Given the description of an element on the screen output the (x, y) to click on. 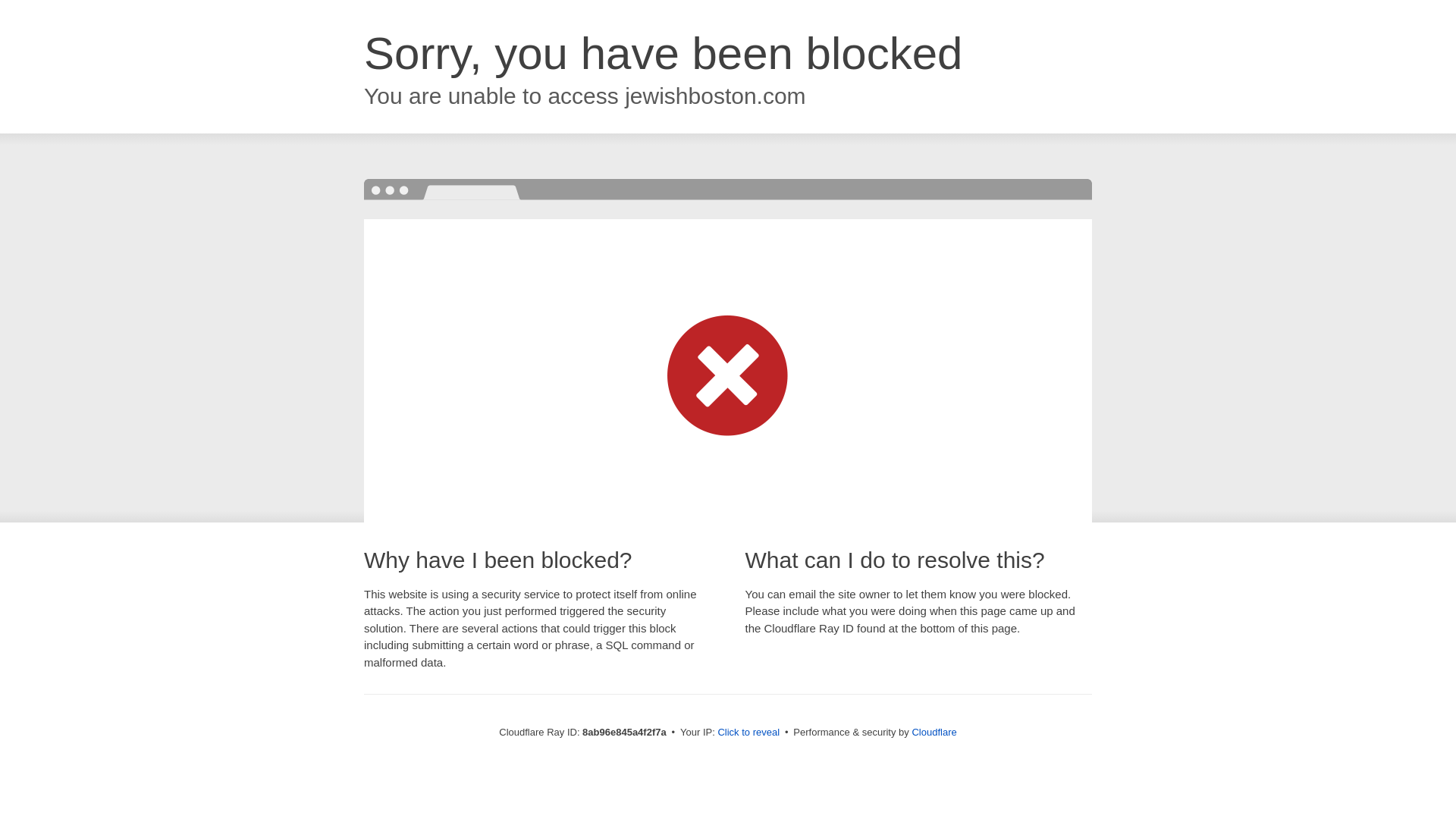
Cloudflare (933, 731)
Click to reveal (747, 732)
